Given the description of an element on the screen output the (x, y) to click on. 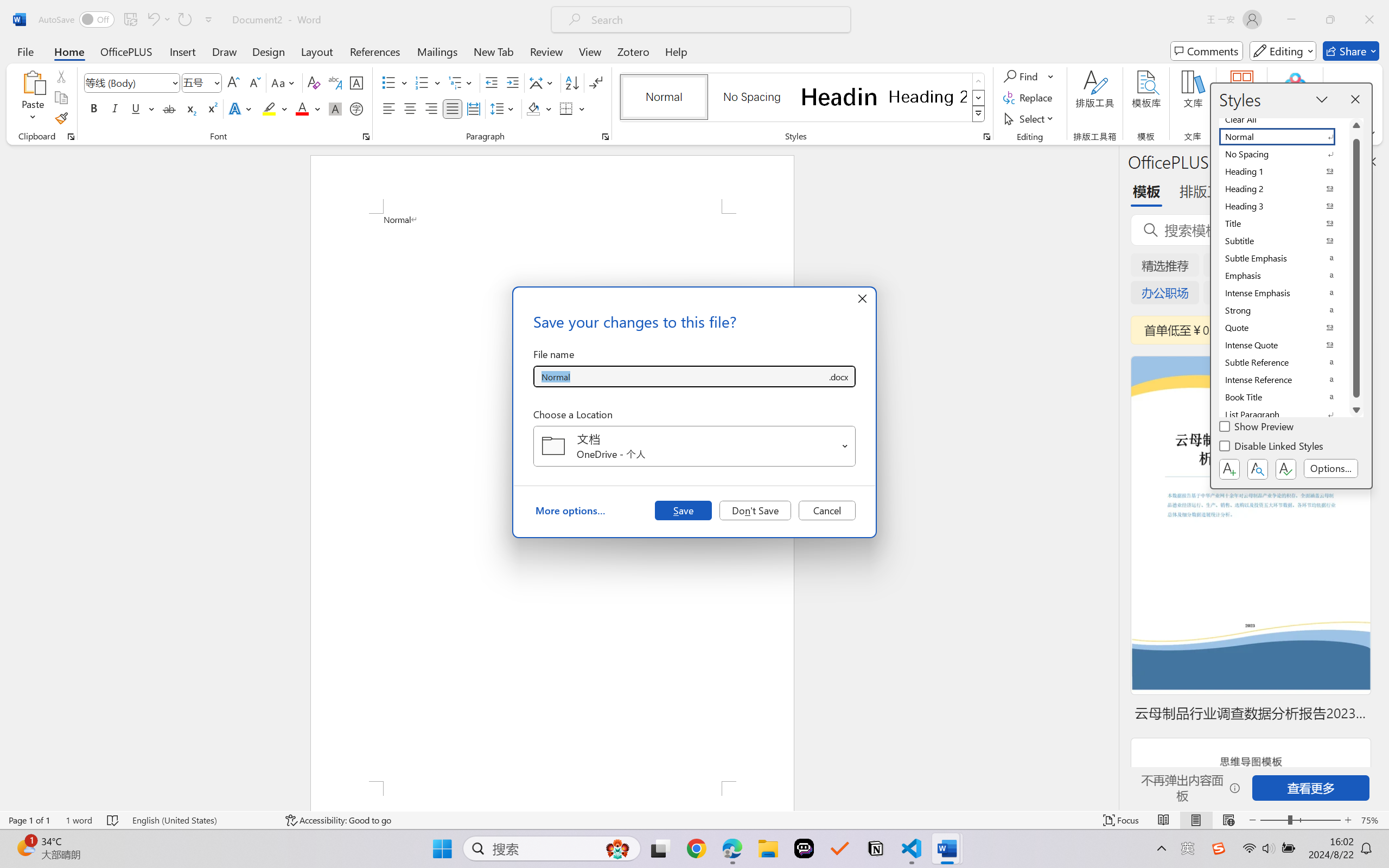
Home (69, 51)
Mode (1283, 50)
Justify (452, 108)
Heading 3 (1283, 206)
Normal (1283, 136)
Undo Apply Quick Style (158, 19)
Repeat Doc Close (184, 19)
AutomationID: DynamicSearchBoxGleamImage (617, 848)
Numbering (421, 82)
No Spacing (1283, 154)
